Given the description of an element on the screen output the (x, y) to click on. 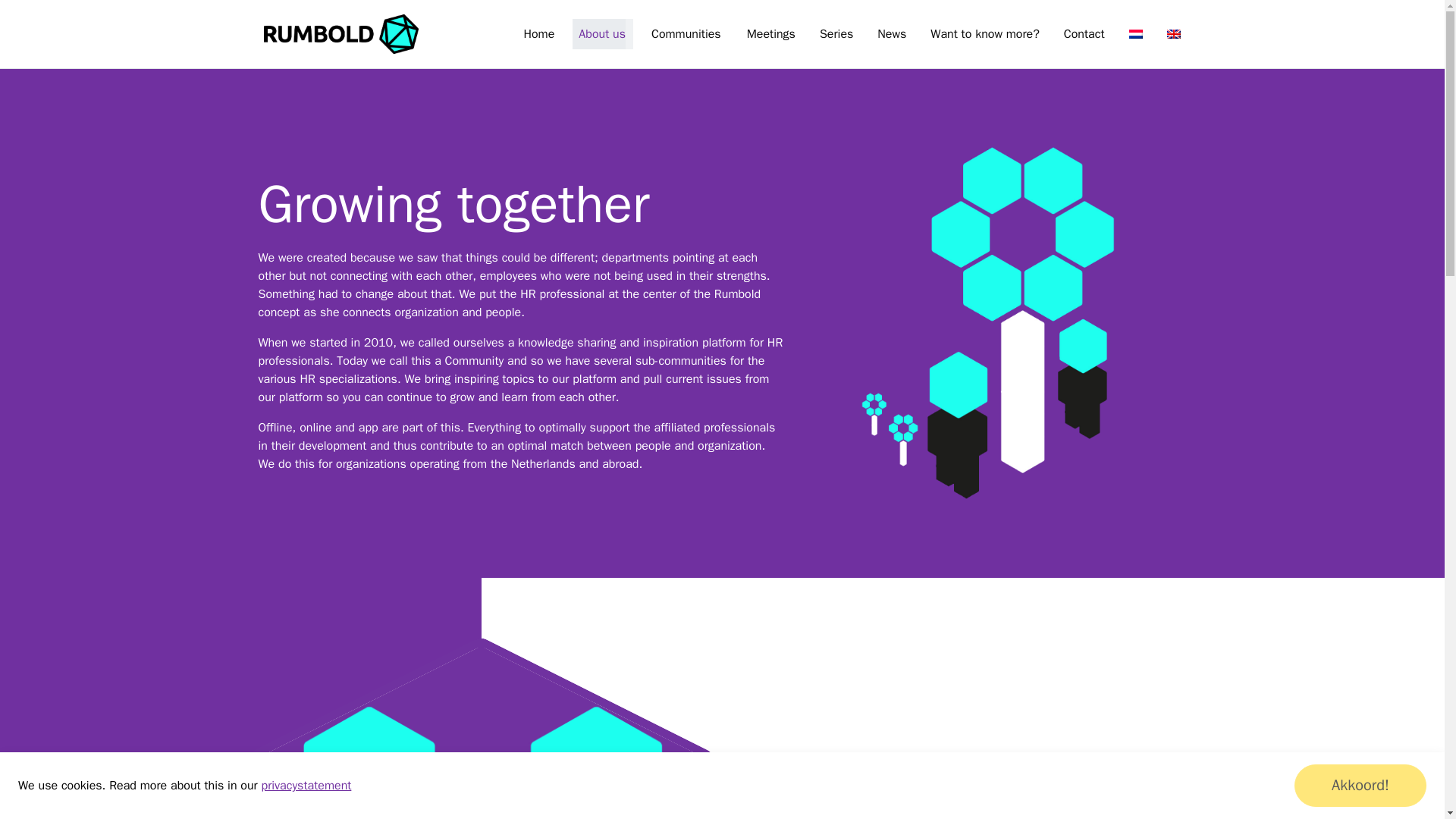
Series (836, 33)
News (891, 33)
Meetings (771, 33)
Communities (682, 33)
Home (538, 33)
Want to know more? (984, 33)
Contact (1084, 33)
About us (599, 33)
